Given the description of an element on the screen output the (x, y) to click on. 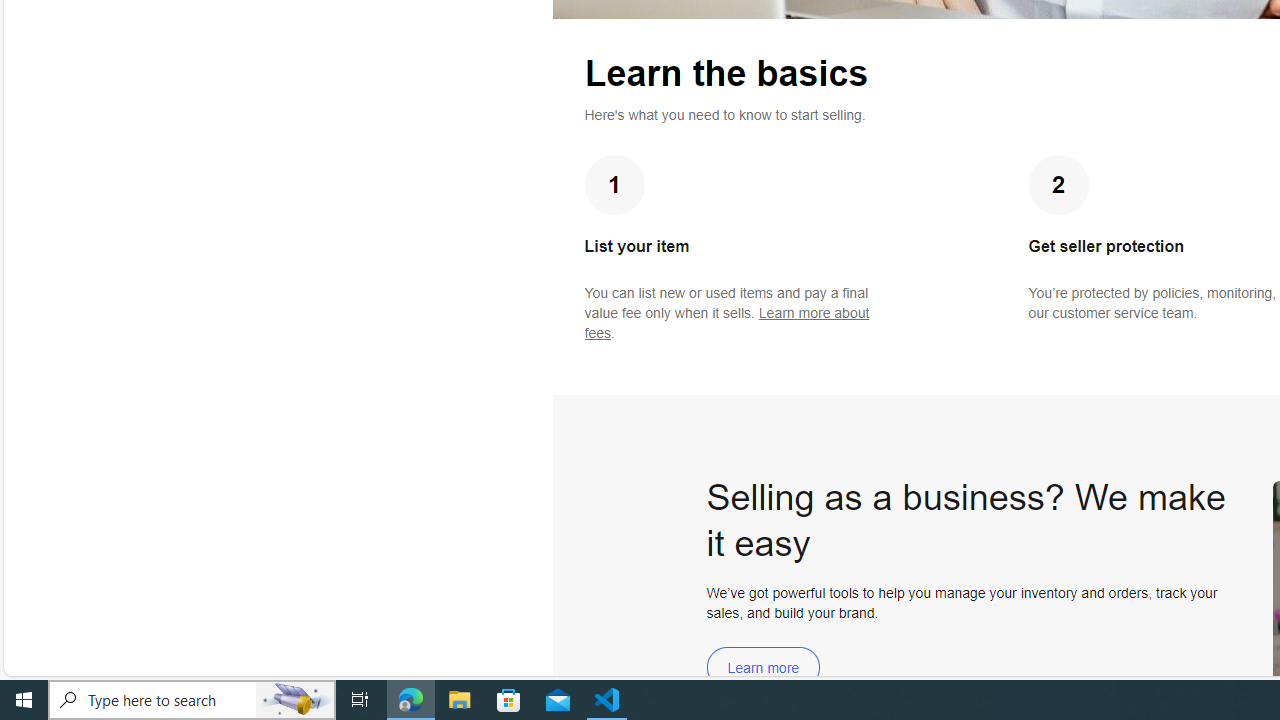
Learn more about fees - opens in new window or tab. (726, 323)
Learn more (763, 667)
